Given the description of an element on the screen output the (x, y) to click on. 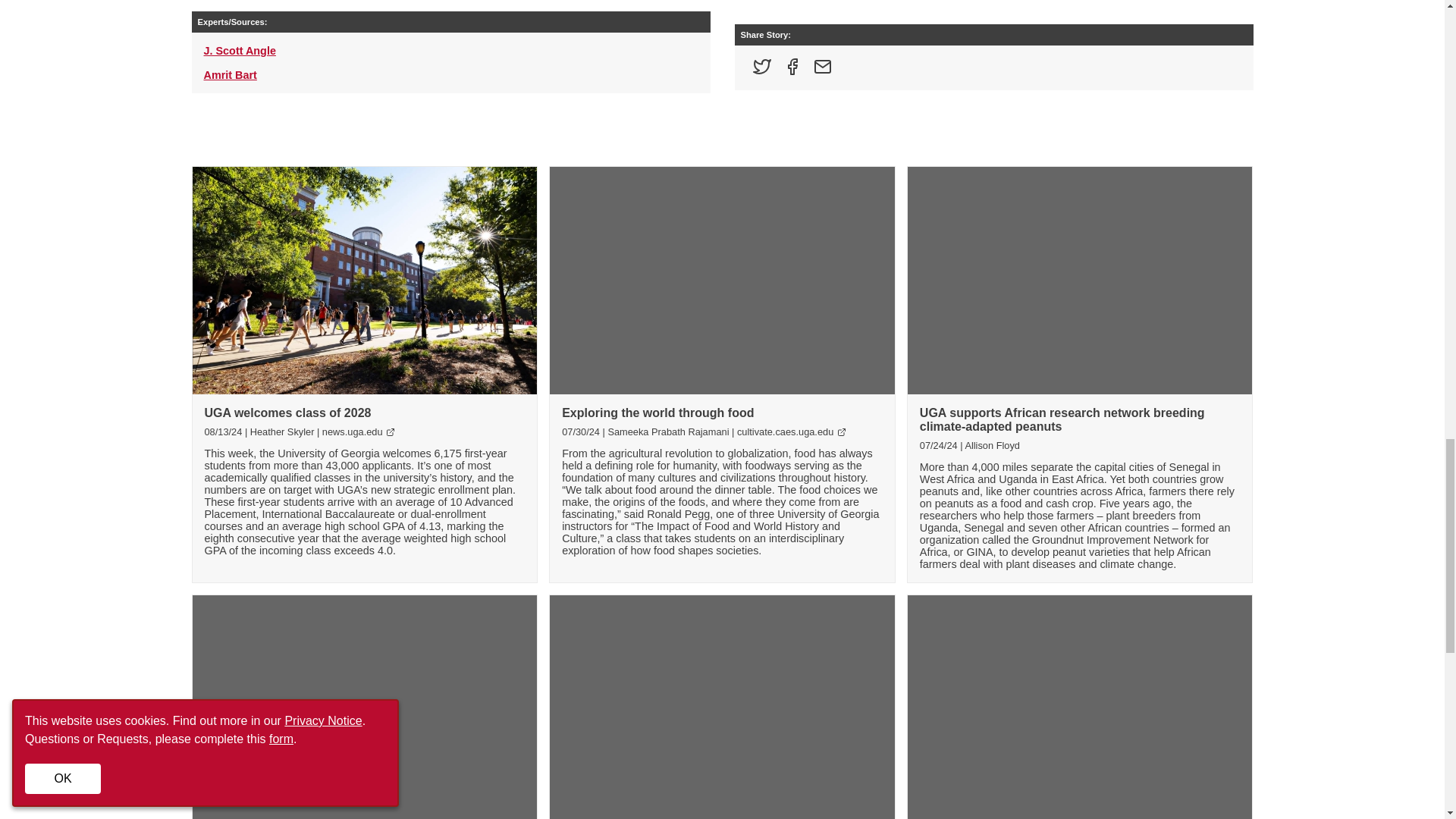
Exploring the world through food (658, 412)
J. Scott Angle (239, 50)
UGA welcomes class of 2028 (288, 412)
Amrit Bart (229, 74)
